Given the description of an element on the screen output the (x, y) to click on. 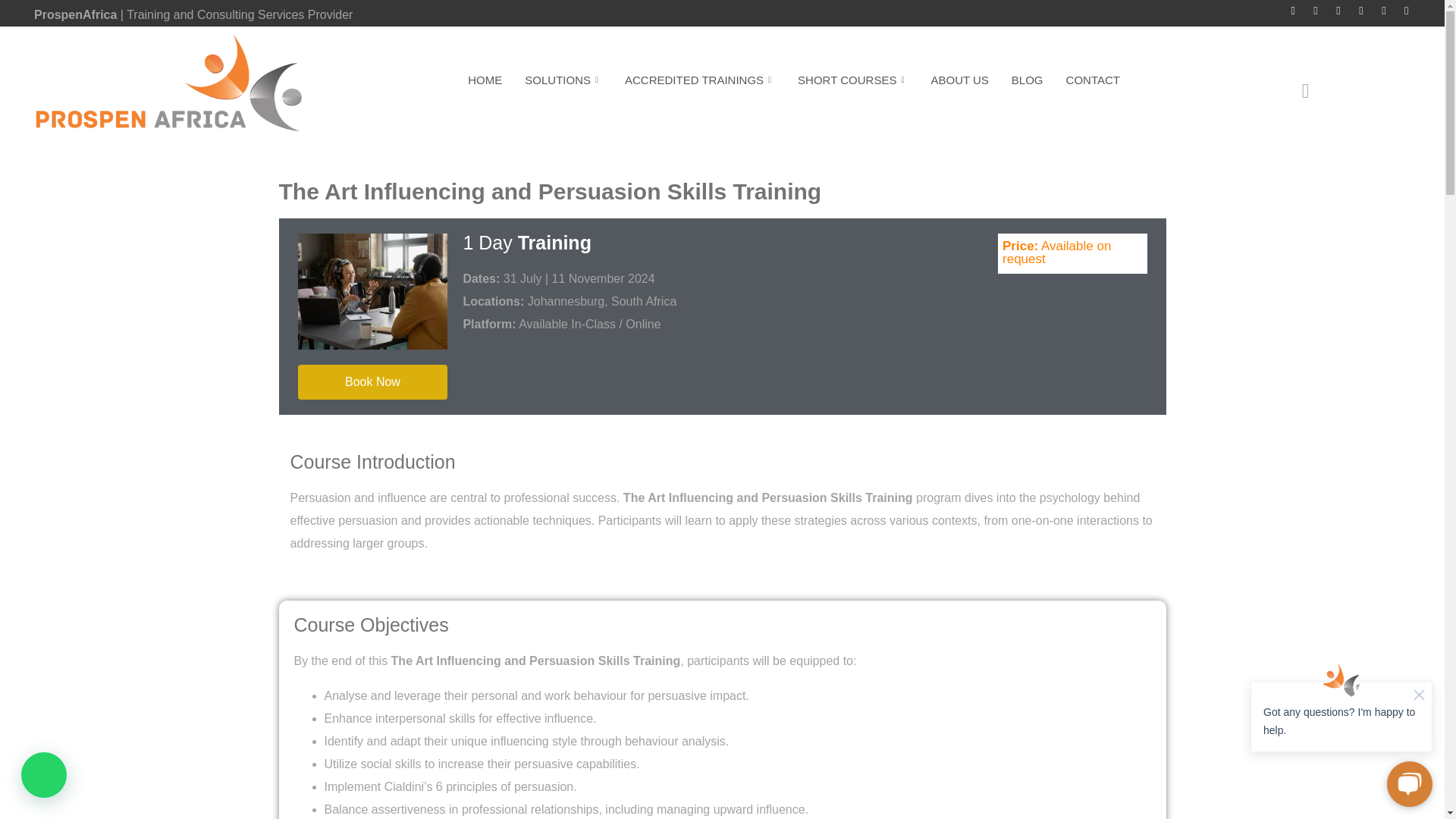
HOME (485, 79)
SOLUTIONS (562, 79)
ACCREDITED TRAININGS (699, 79)
